Given the description of an element on the screen output the (x, y) to click on. 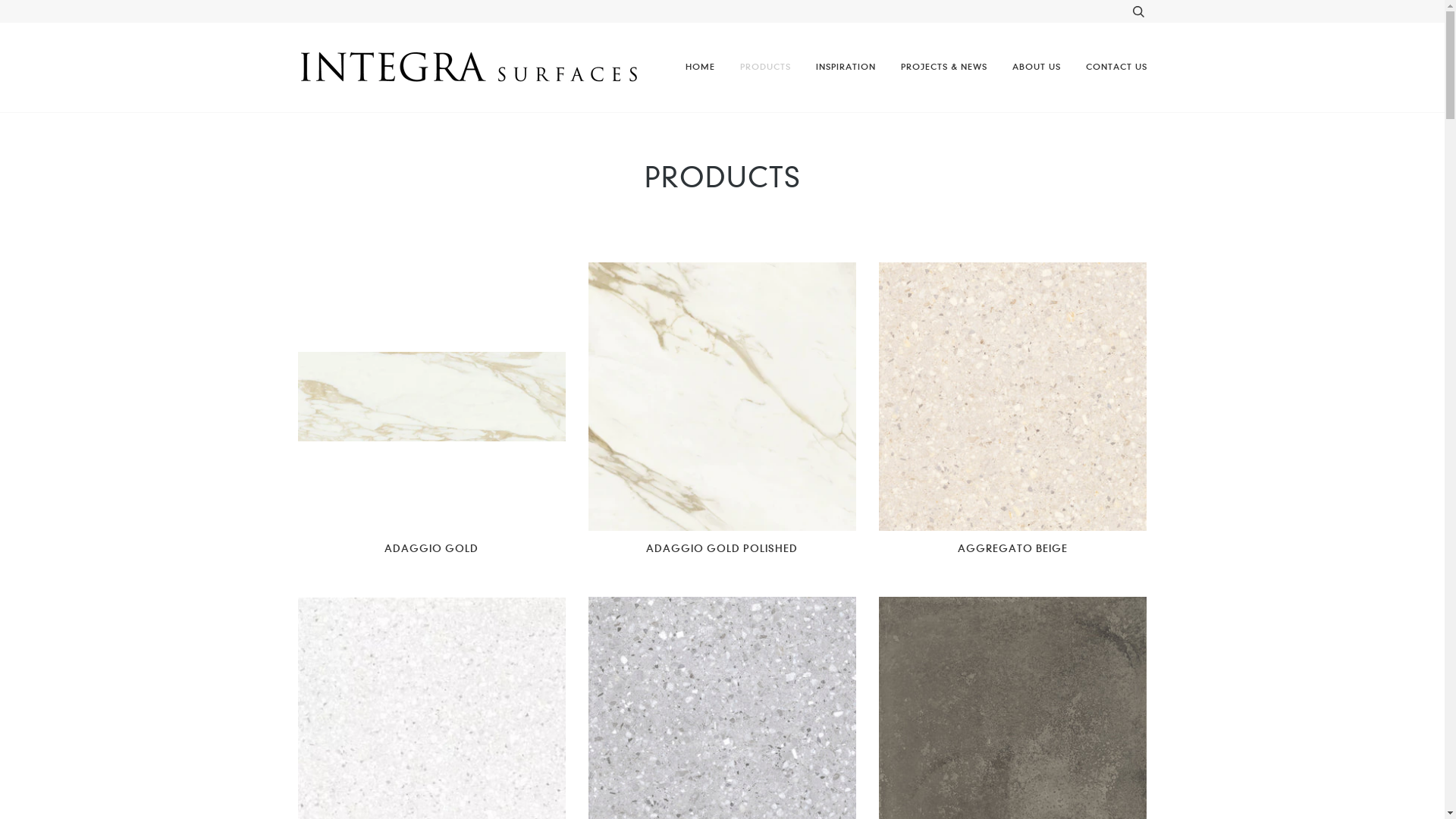
HOME Element type: text (700, 67)
ADAGGIO GOLD POLISHED Element type: text (722, 548)
CONTACT US Element type: text (1116, 67)
INSPIRATION Element type: text (845, 67)
AGGREGATO BEIGE Element type: text (1012, 548)
PRODUCTS Element type: text (765, 67)
PROJECTS & NEWS Element type: text (943, 67)
ADAGGIO GOLD Element type: text (430, 548)
ABOUT US Element type: text (1035, 67)
